Given the description of an element on the screen output the (x, y) to click on. 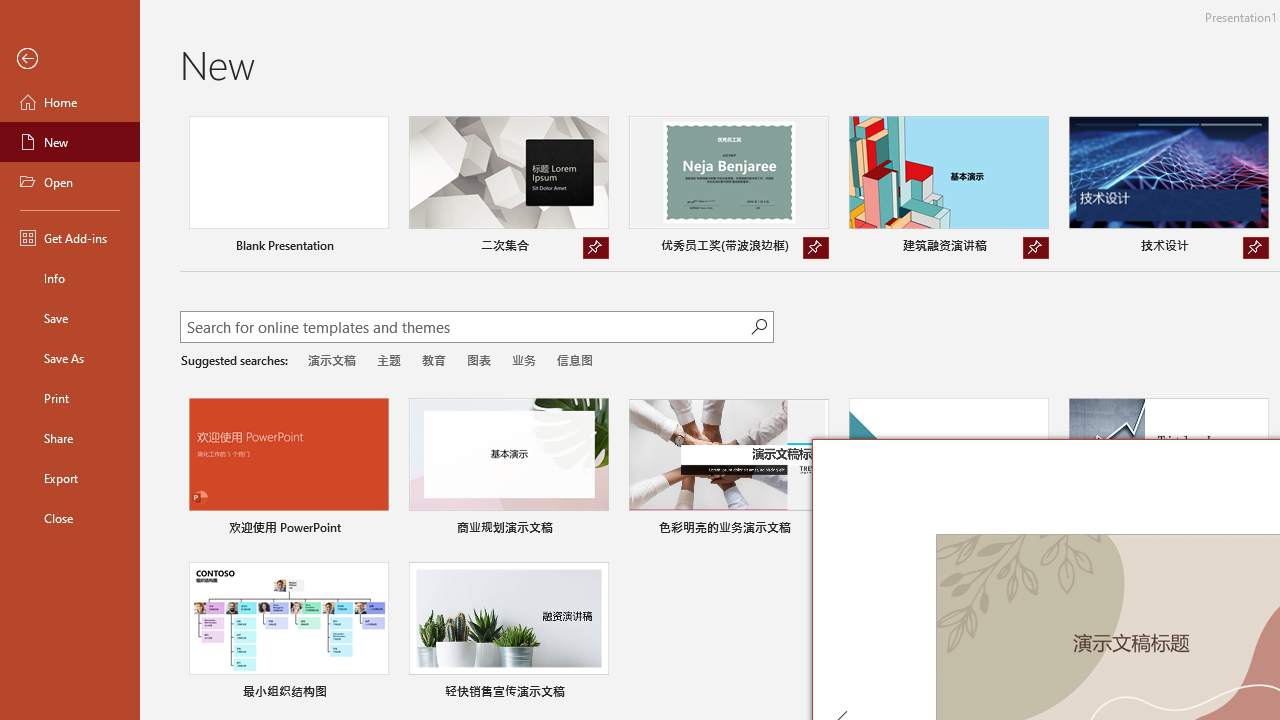
Save As (69, 357)
Pin to list (595, 693)
Blank Presentation (288, 187)
Get Add-ins (69, 237)
